Given the description of an element on the screen output the (x, y) to click on. 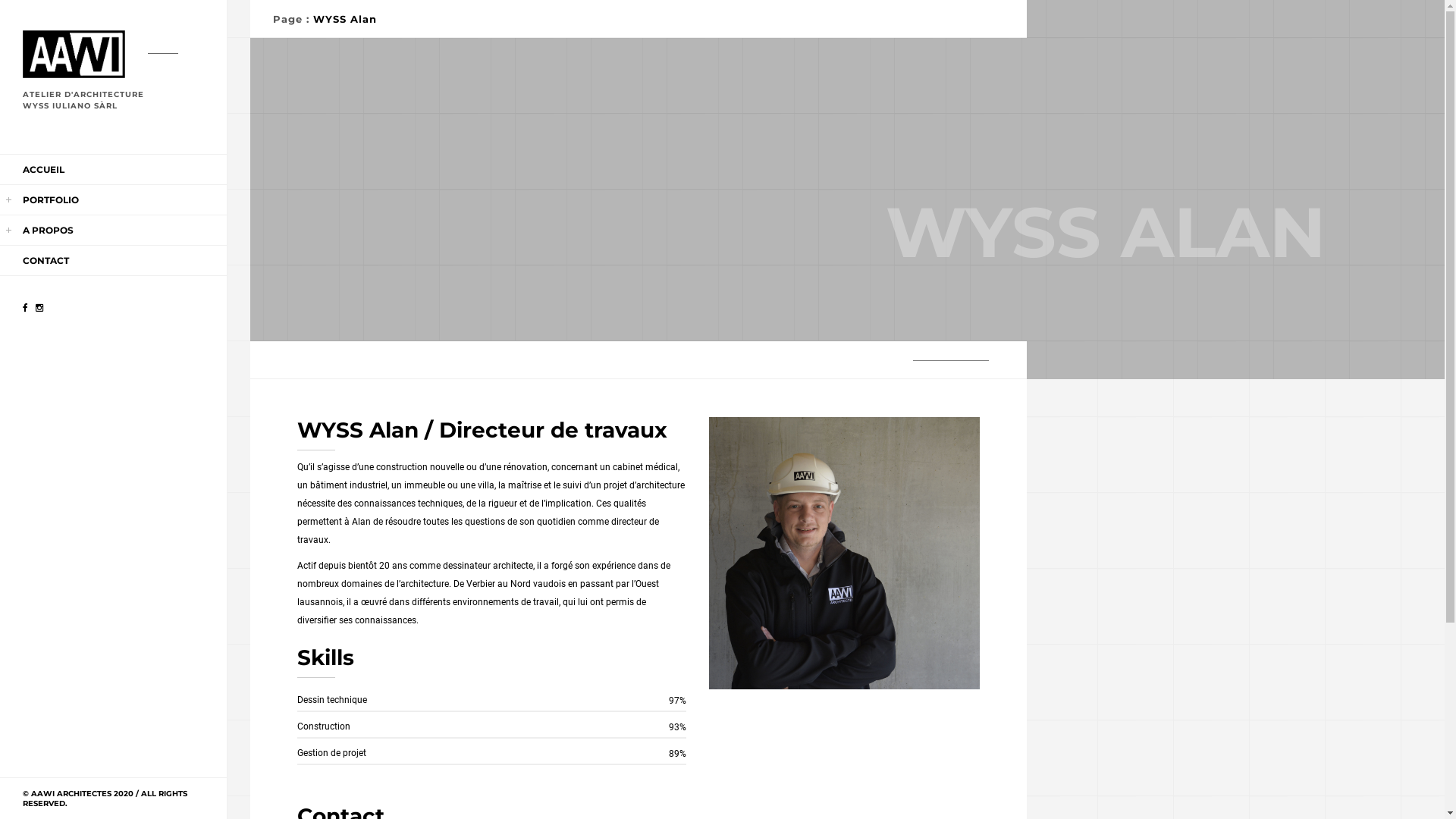
ACCUEIL Element type: text (43, 169)
CONTACT Element type: text (45, 260)
A PROPOS Element type: text (47, 229)
PORTFOLIO Element type: text (50, 199)
WYSS Alan Element type: text (344, 18)
